Given the description of an element on the screen output the (x, y) to click on. 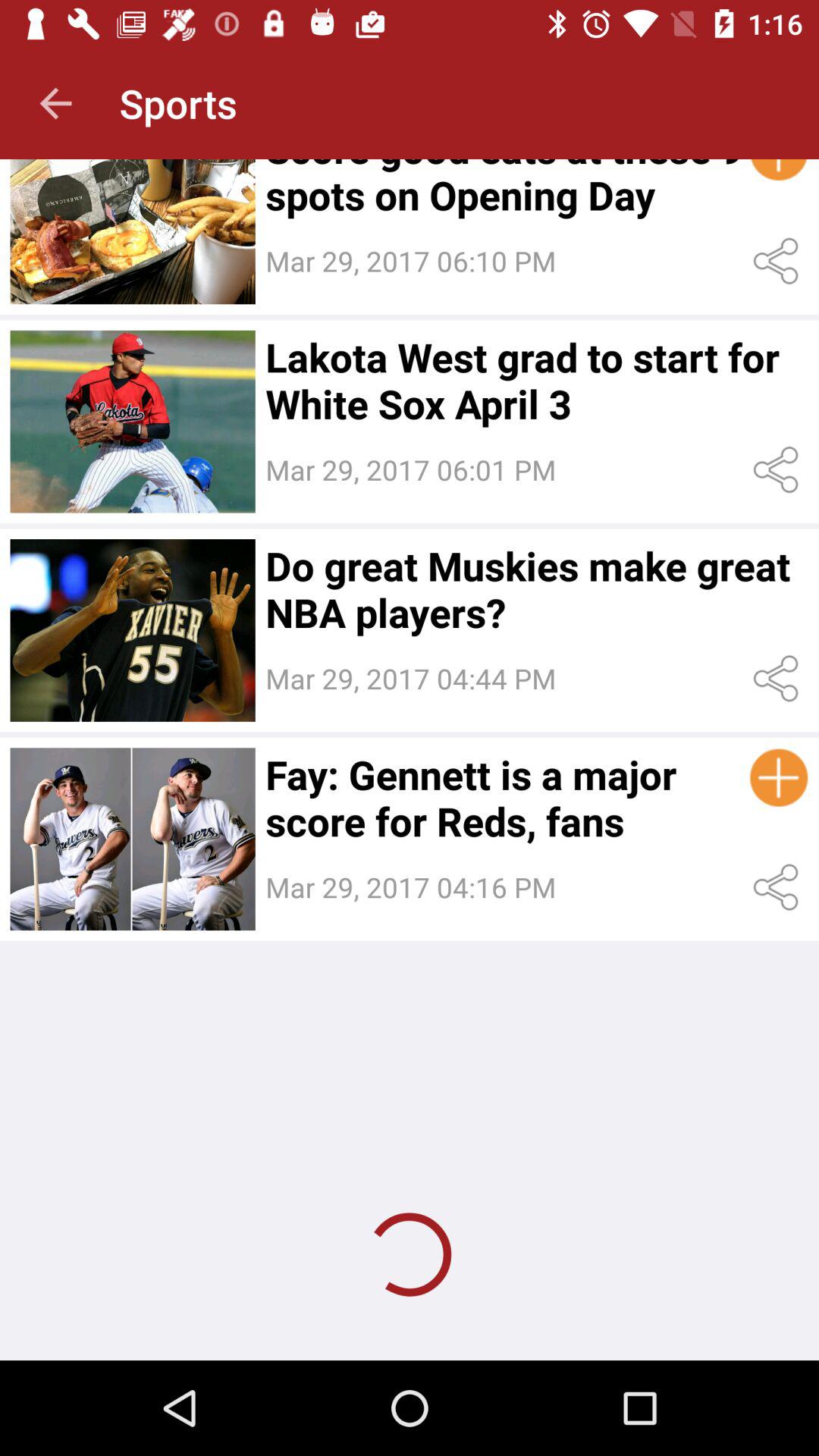
share the article (778, 469)
